Given the description of an element on the screen output the (x, y) to click on. 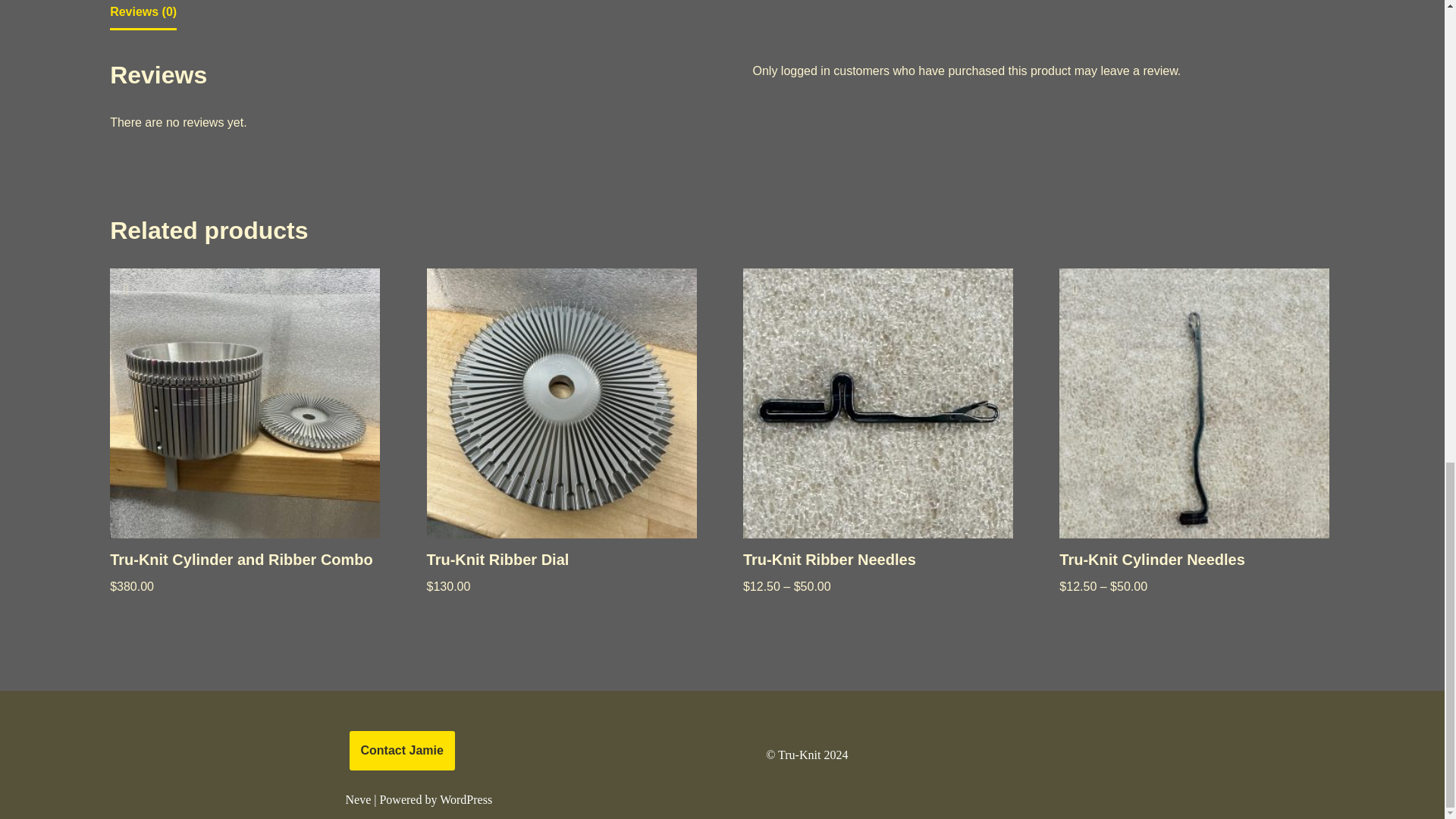
Contact Jamie (401, 750)
